Given the description of an element on the screen output the (x, y) to click on. 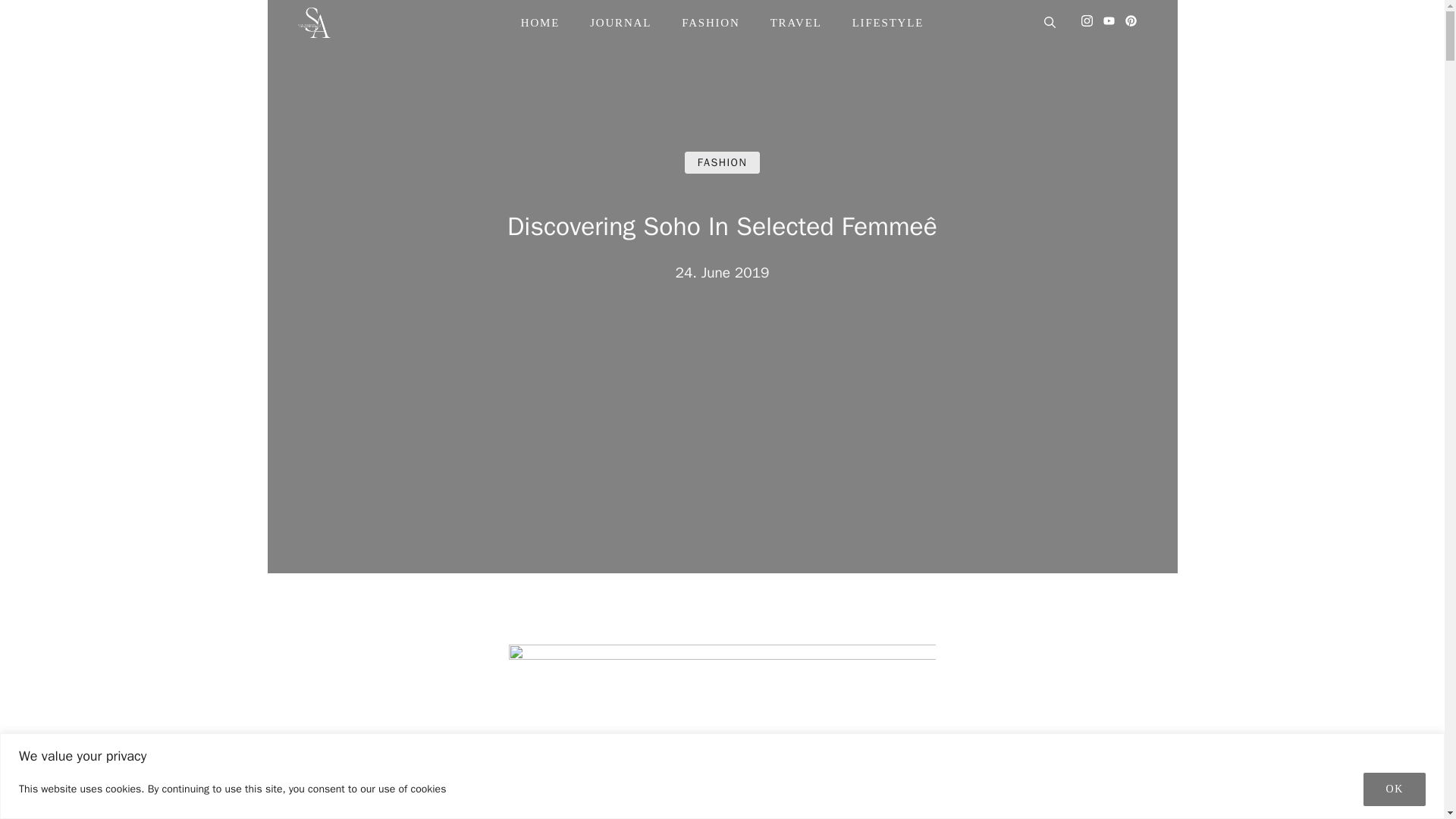
HOME (540, 22)
FASHION (722, 162)
FASHION (710, 22)
OK (1393, 788)
JOURNAL (620, 22)
style-appetite-in-den-strassen-von-soho-mit-selected-femme (722, 731)
LIFESTYLE (888, 22)
TRAVEL (796, 22)
